Given the description of an element on the screen output the (x, y) to click on. 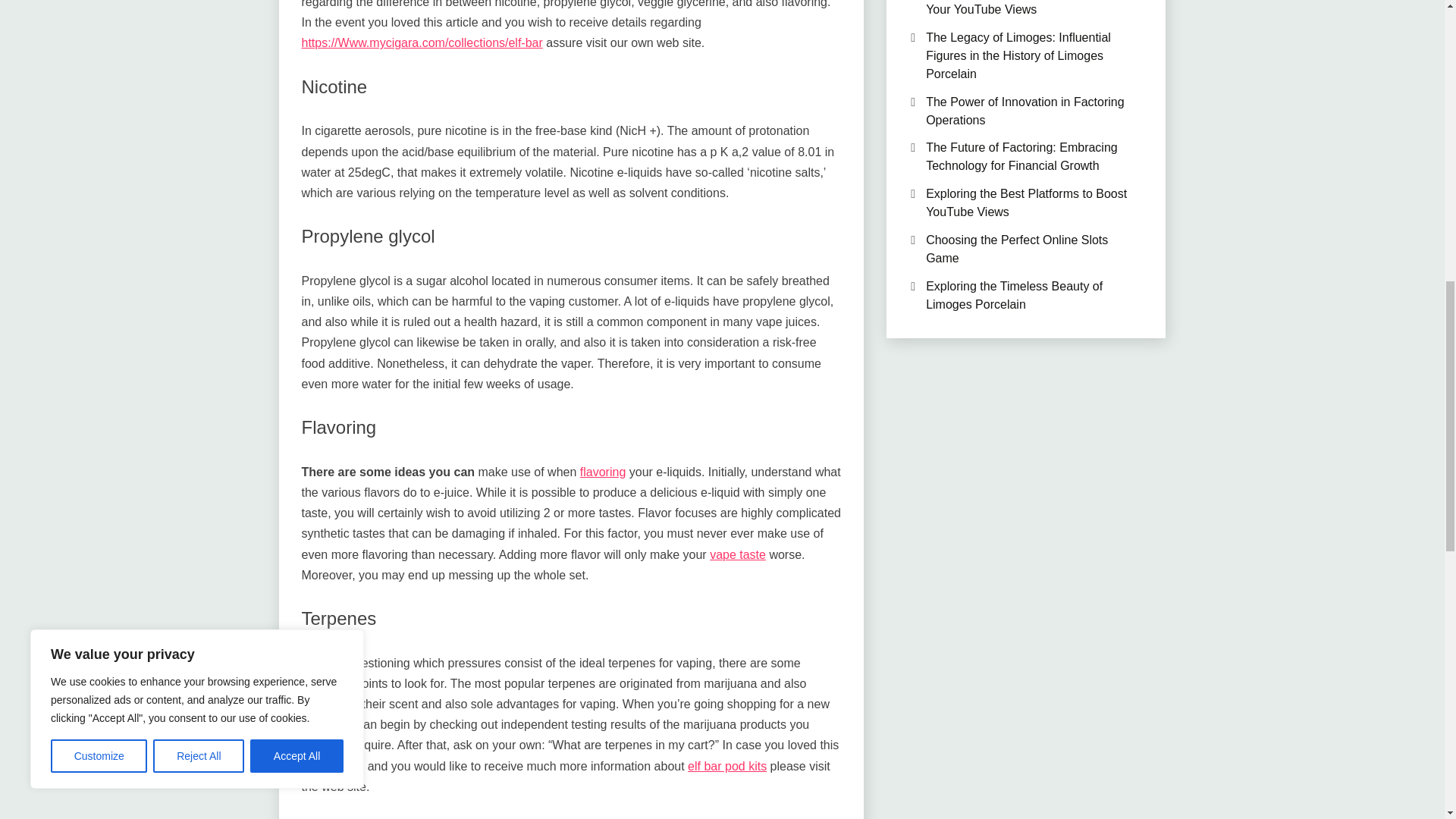
elf bar pod kits (727, 766)
flavoring (602, 472)
vape taste (737, 554)
